Given the description of an element on the screen output the (x, y) to click on. 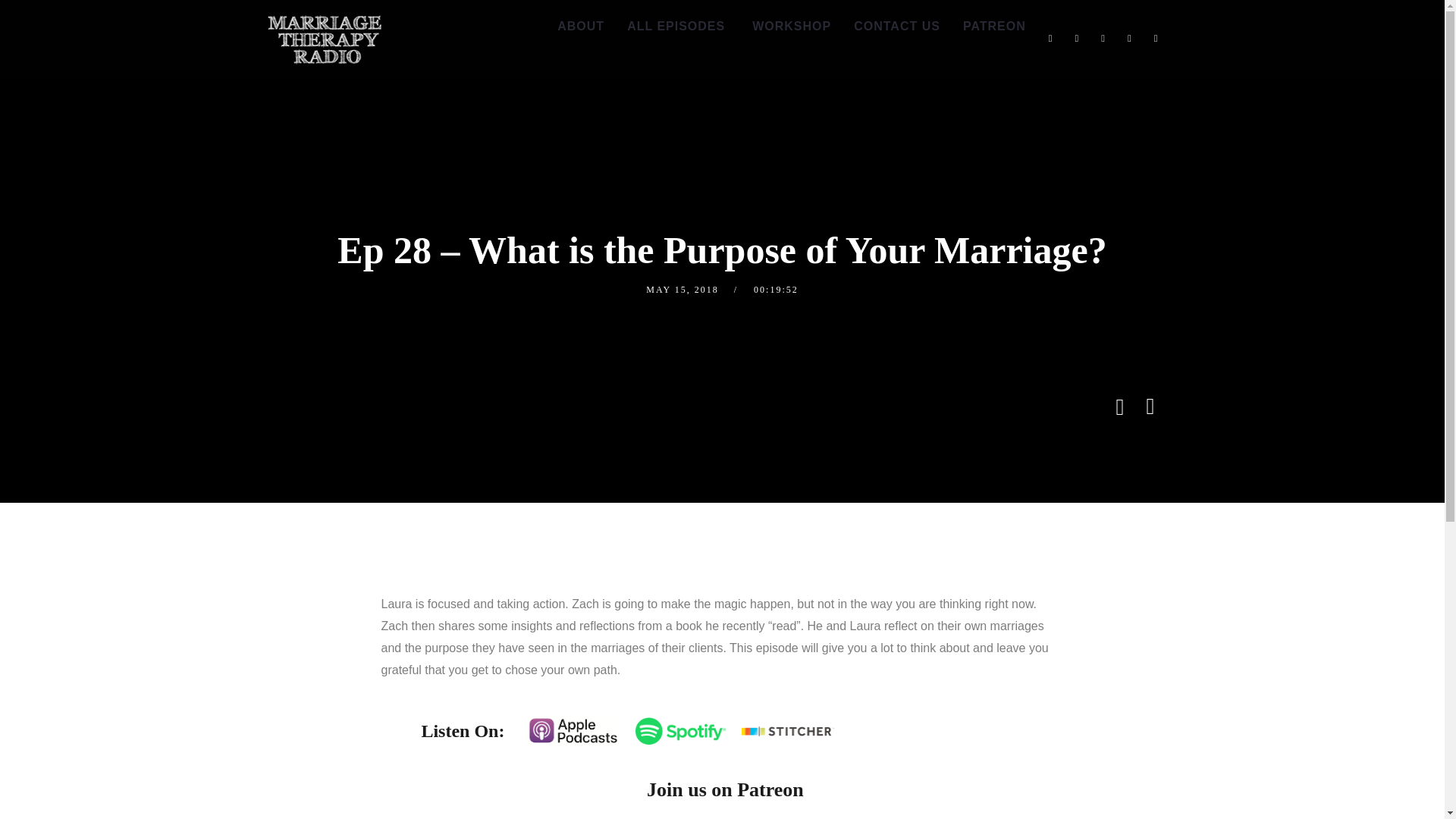
CONTACT US (897, 26)
ALL EPISODES (675, 26)
PATREON (994, 26)
Marriage Therapy Radio (323, 39)
WORKSHOP (789, 26)
ABOUT (580, 26)
